Given the description of an element on the screen output the (x, y) to click on. 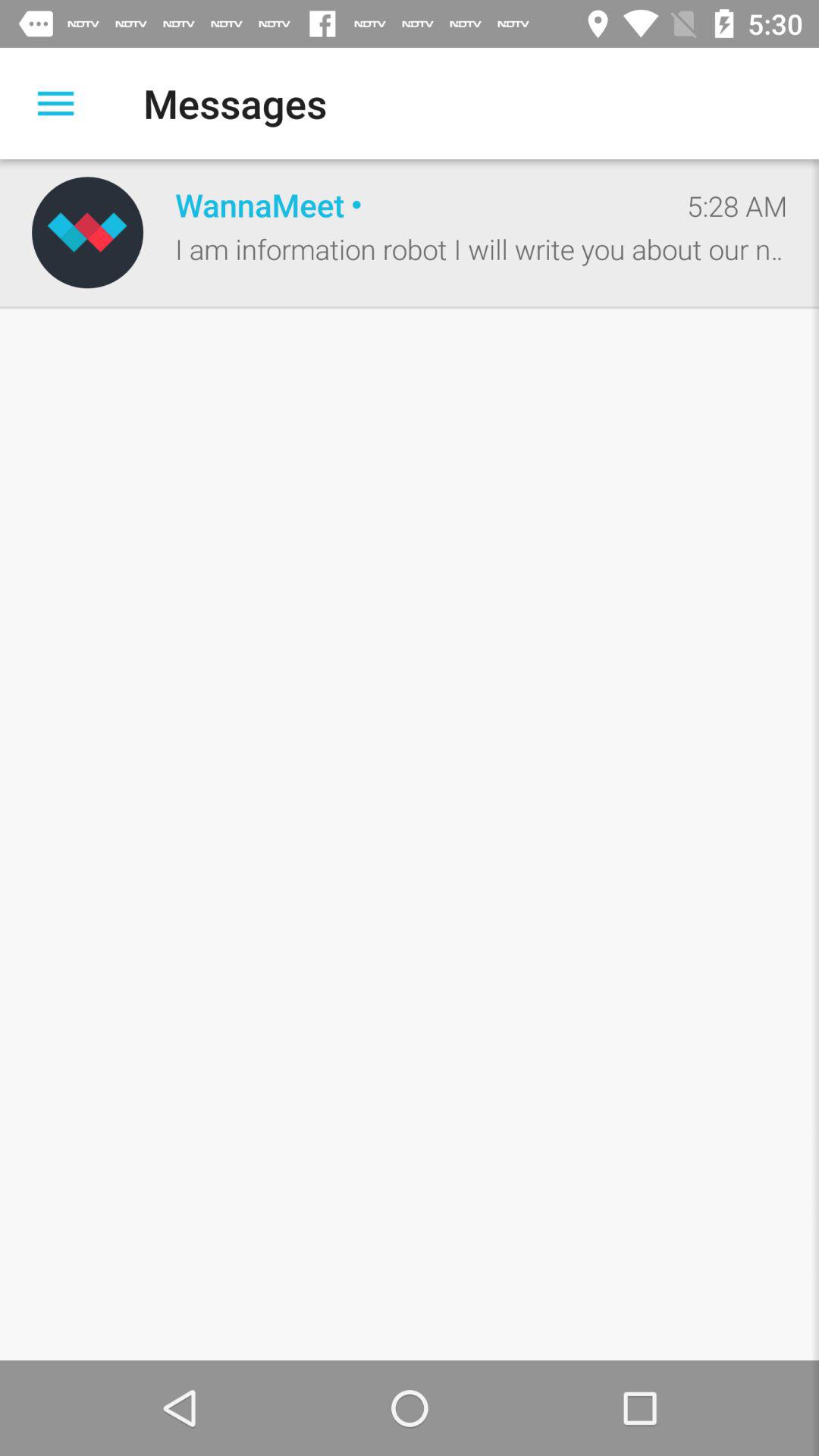
flip to the 5:28 am (737, 205)
